Given the description of an element on the screen output the (x, y) to click on. 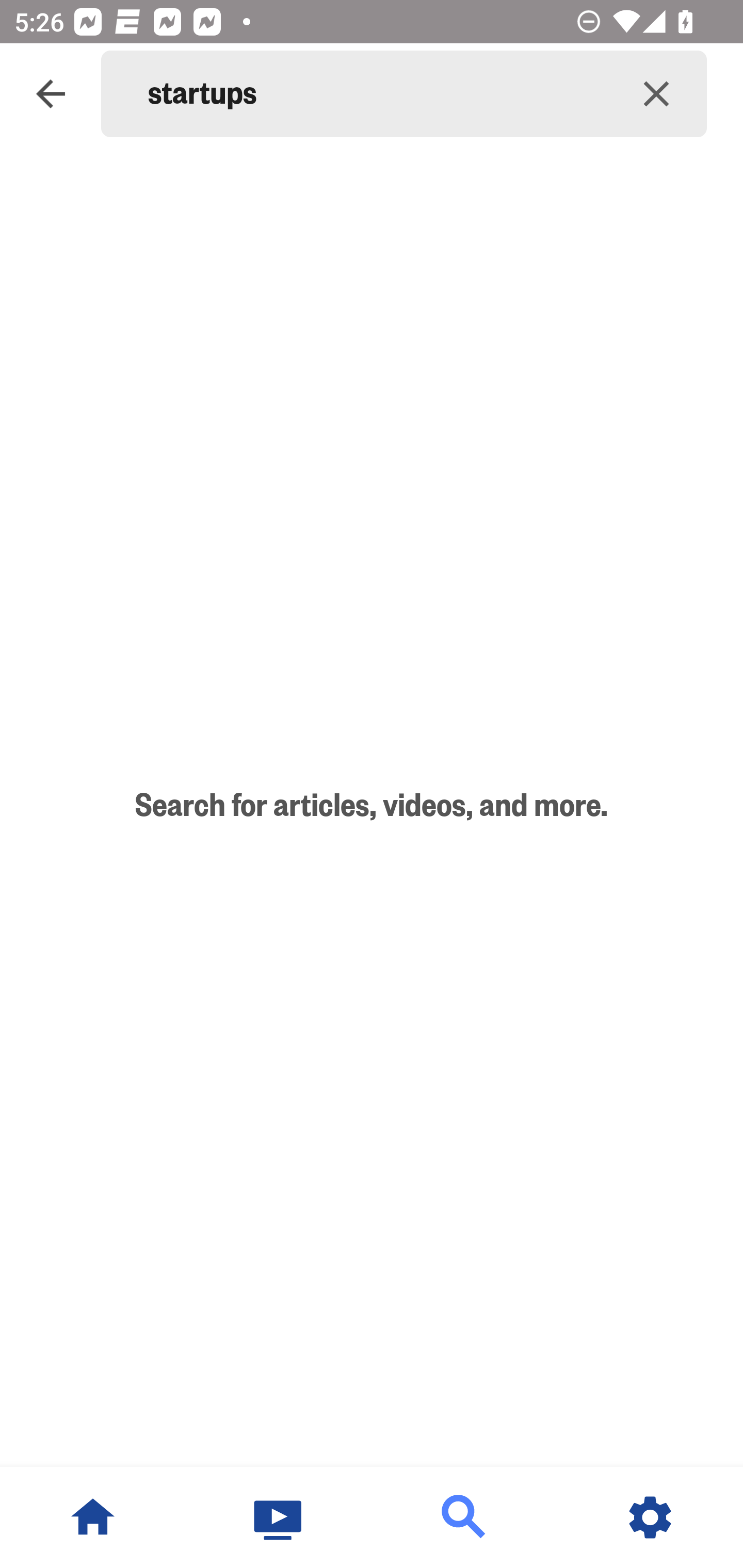
Navigate up (50, 93)
Clear query (656, 93)
startups (376, 94)
NBC News Home (92, 1517)
Watch (278, 1517)
Settings (650, 1517)
